Given the description of an element on the screen output the (x, y) to click on. 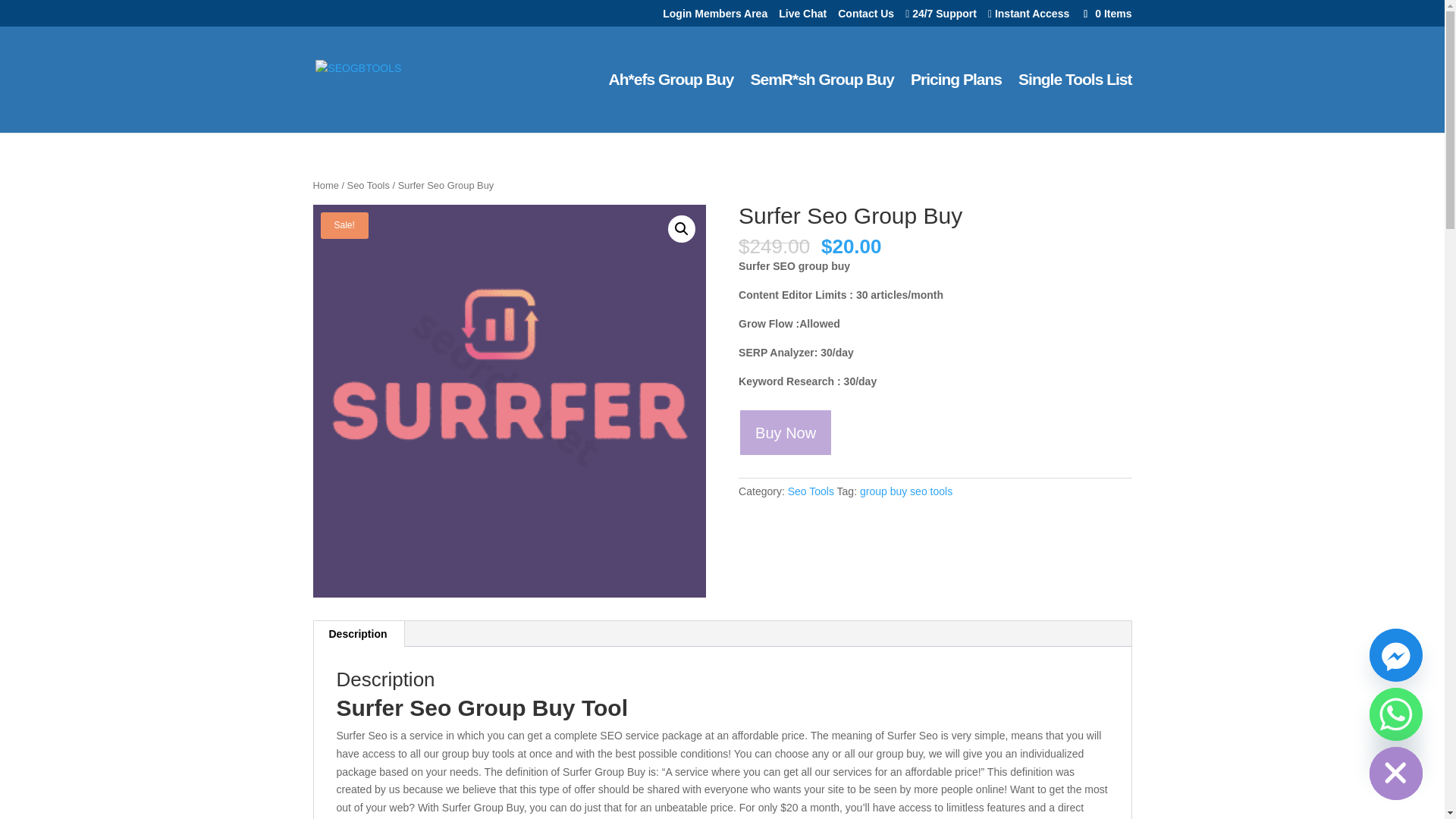
Seo Tools (368, 184)
group buy seo tools (906, 491)
Buy Now (785, 432)
Seo Group Buy tools list (1074, 103)
Pricing Plans (956, 103)
Live Chat (802, 16)
Login Members Area (714, 16)
0 Items (1105, 13)
Contact Us (865, 16)
Seo Tools (810, 491)
Single Tools List (1074, 103)
Home (325, 184)
Description (358, 633)
